Given the description of an element on the screen output the (x, y) to click on. 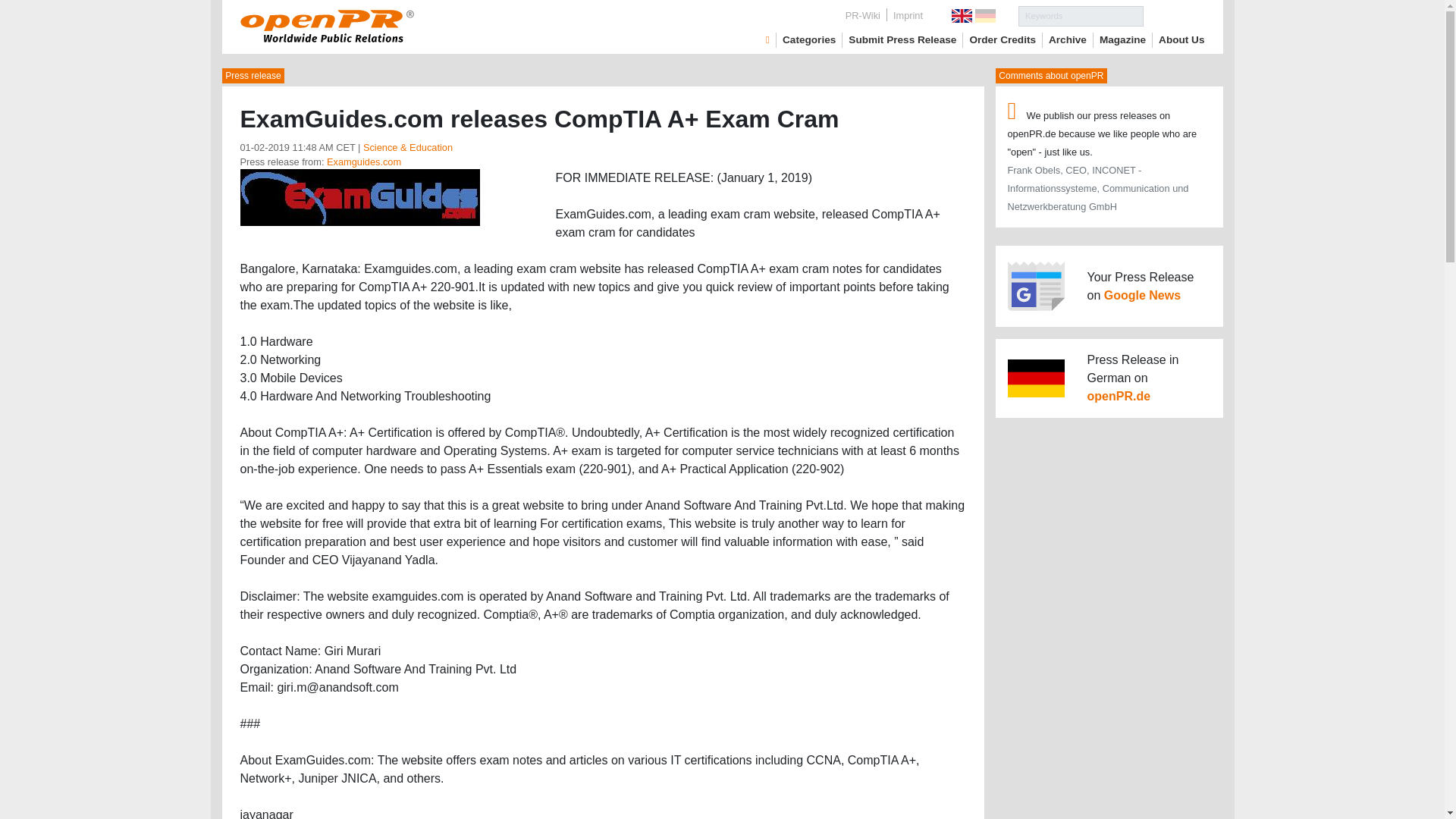
Order Credits (1002, 39)
Submit Press Release (902, 39)
Categories (809, 39)
Imprint (907, 15)
Archive (1067, 39)
PR-Wiki (863, 15)
Examguides.com (363, 161)
About Us (1181, 39)
Search   (1173, 15)
Magazine (1122, 39)
archive und pressrelease of Examguides.com (363, 161)
